Given the description of an element on the screen output the (x, y) to click on. 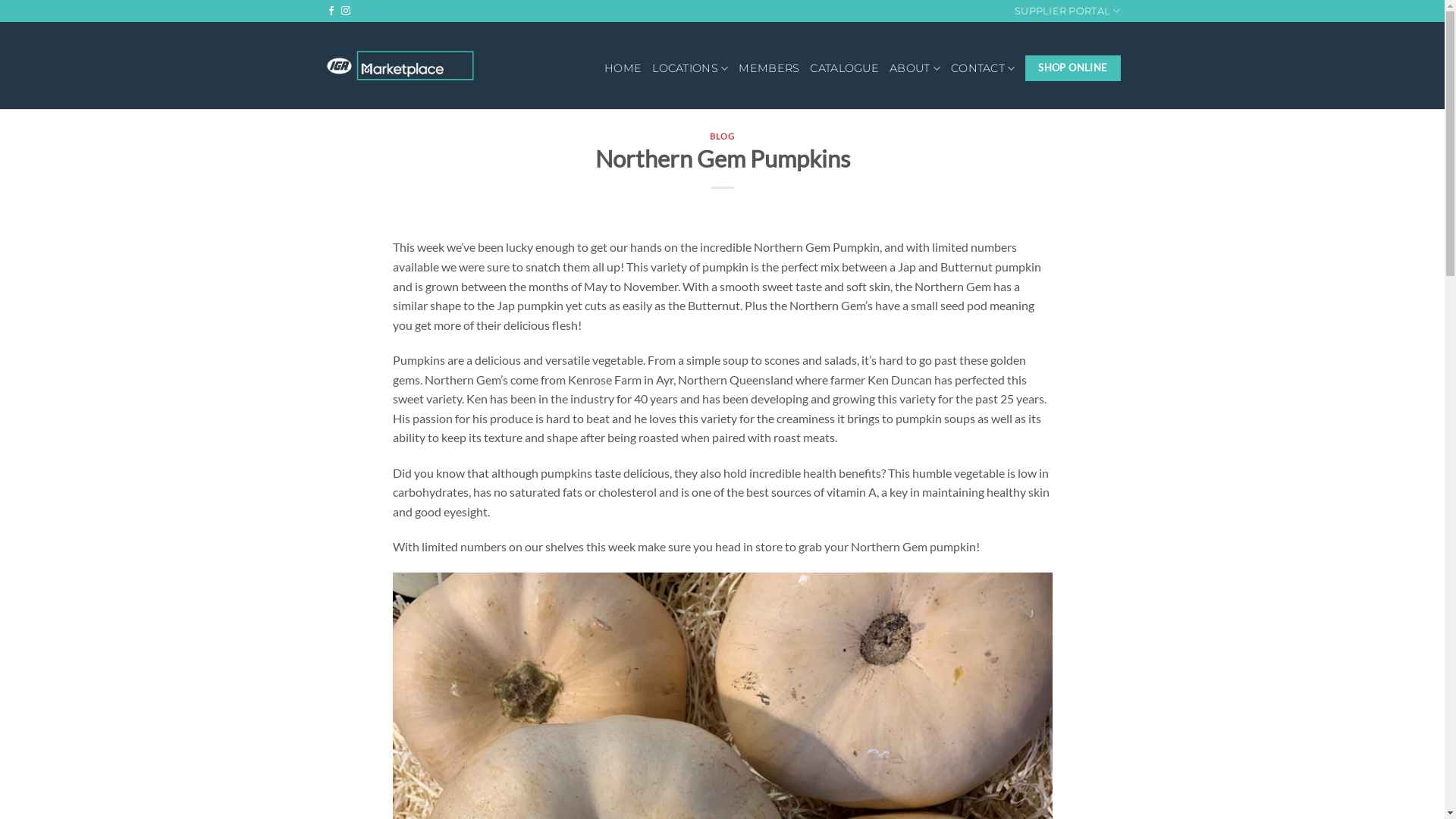
SUPPLIER PORTAL Element type: text (1067, 10)
ABOUT Element type: text (914, 67)
Follow on Instagram Element type: hover (345, 11)
SHOP ONLINE Element type: text (1072, 68)
Follow on Facebook Element type: hover (330, 11)
MEMBERS Element type: text (768, 67)
CONTACT Element type: text (982, 67)
HOME Element type: text (622, 67)
LOCATIONS Element type: text (690, 67)
CATALOGUE Element type: text (843, 67)
IGA Marketplace Element type: hover (400, 65)
BLOG Element type: text (721, 136)
